Given the description of an element on the screen output the (x, y) to click on. 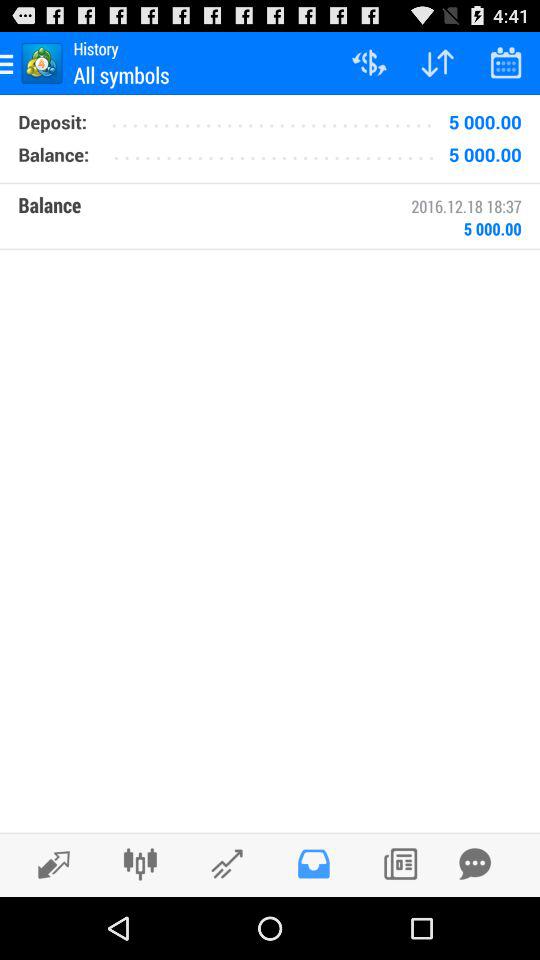
enter notes (400, 863)
